Given the description of an element on the screen output the (x, y) to click on. 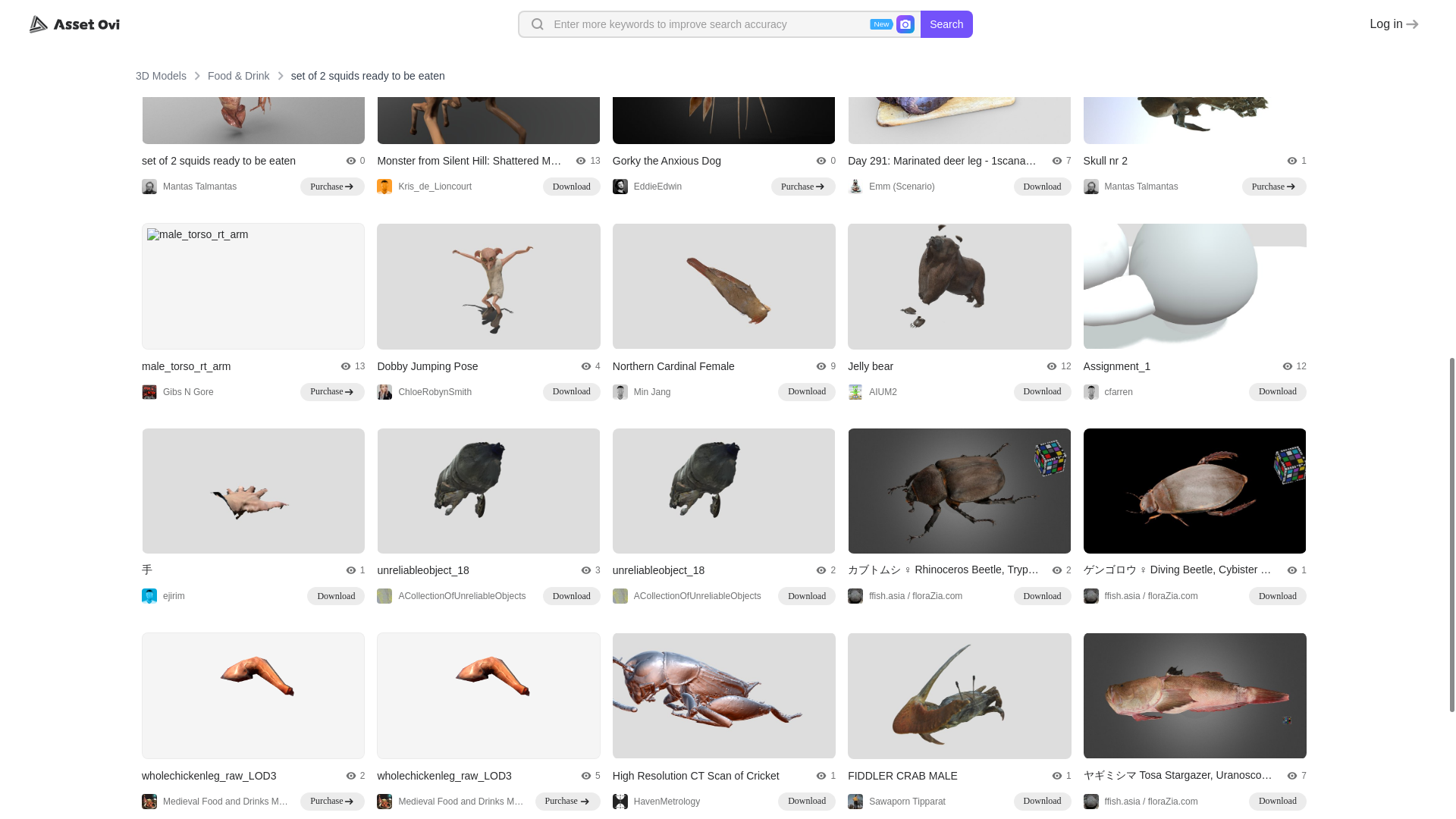
Purchase (332, 186)
Gibs N Gore (177, 391)
Purchase (332, 392)
Dobby Jumping Pose (427, 366)
Download (571, 392)
set of 2 squids ready to be eaten (218, 160)
Purchase (803, 186)
Download (1042, 186)
Purchase (1273, 186)
EddieEdwin (646, 186)
Northern Cardinal Female (673, 366)
Download (571, 186)
Monster from Silent Hill: Shattered Memories (469, 160)
Mantas Talmantas (1130, 186)
Gorky the Anxious Dog (666, 160)
